Given the description of an element on the screen output the (x, y) to click on. 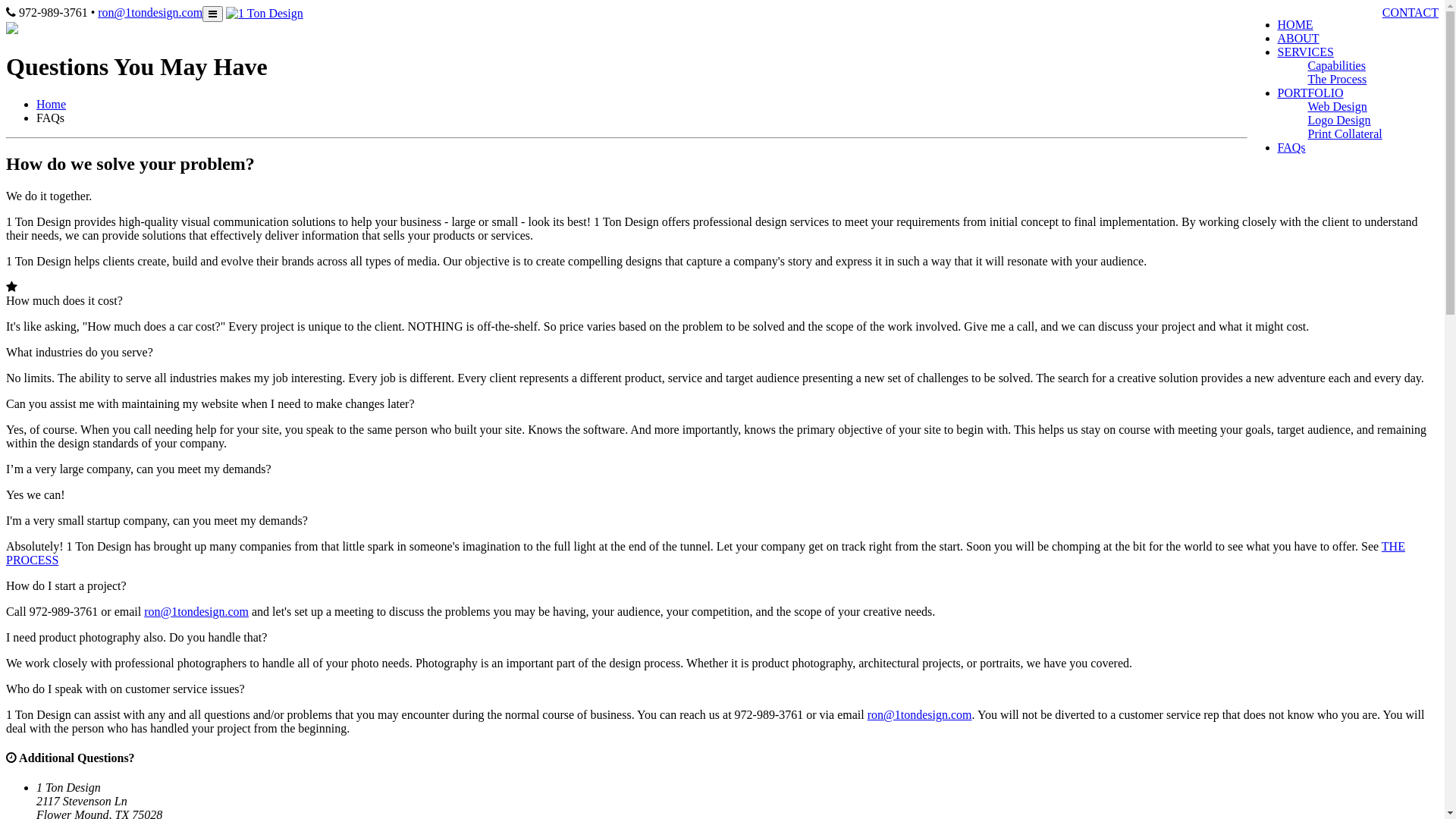
ron@1tondesign.com Element type: text (196, 611)
Capabilities Element type: text (1336, 65)
ron@1tondesign.com Element type: text (149, 12)
HOME Element type: text (1295, 24)
ron@1tondesign.com Element type: text (919, 714)
ABOUT Element type: text (1298, 37)
FAQs Element type: text (1291, 147)
SERVICES Element type: text (1305, 51)
THE PROCESS Element type: text (705, 552)
Home Element type: text (50, 103)
The Process Element type: text (1337, 78)
Print Collateral Element type: text (1345, 133)
Web Design Element type: text (1337, 106)
PORTFOLIO Element type: text (1310, 92)
Logo Design Element type: text (1339, 119)
CONTACT Element type: text (1410, 12)
